Given the description of an element on the screen output the (x, y) to click on. 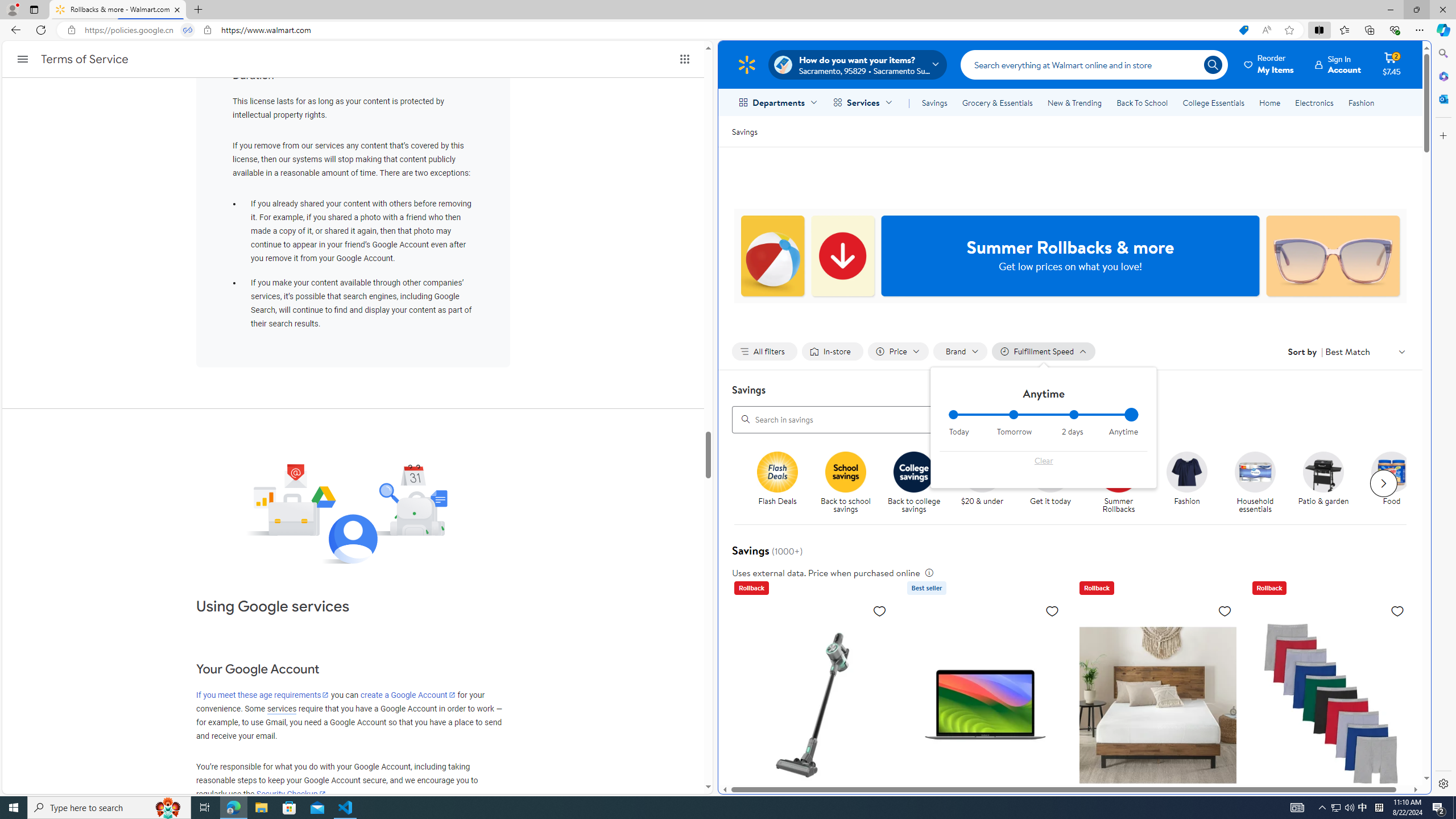
Household essentials (1259, 483)
Patio & garden (1328, 483)
Flash deals Flash Deals (777, 478)
Sign InAccount (1338, 64)
Grocery & Essentials (997, 102)
Back to College savings Back to college savings (913, 483)
$20 & under (986, 483)
Get it today (1054, 483)
Filter by Fulfillment Speed not applied, activate to change (1043, 351)
Reorder My Items (1269, 64)
Savings (744, 131)
